Given the description of an element on the screen output the (x, y) to click on. 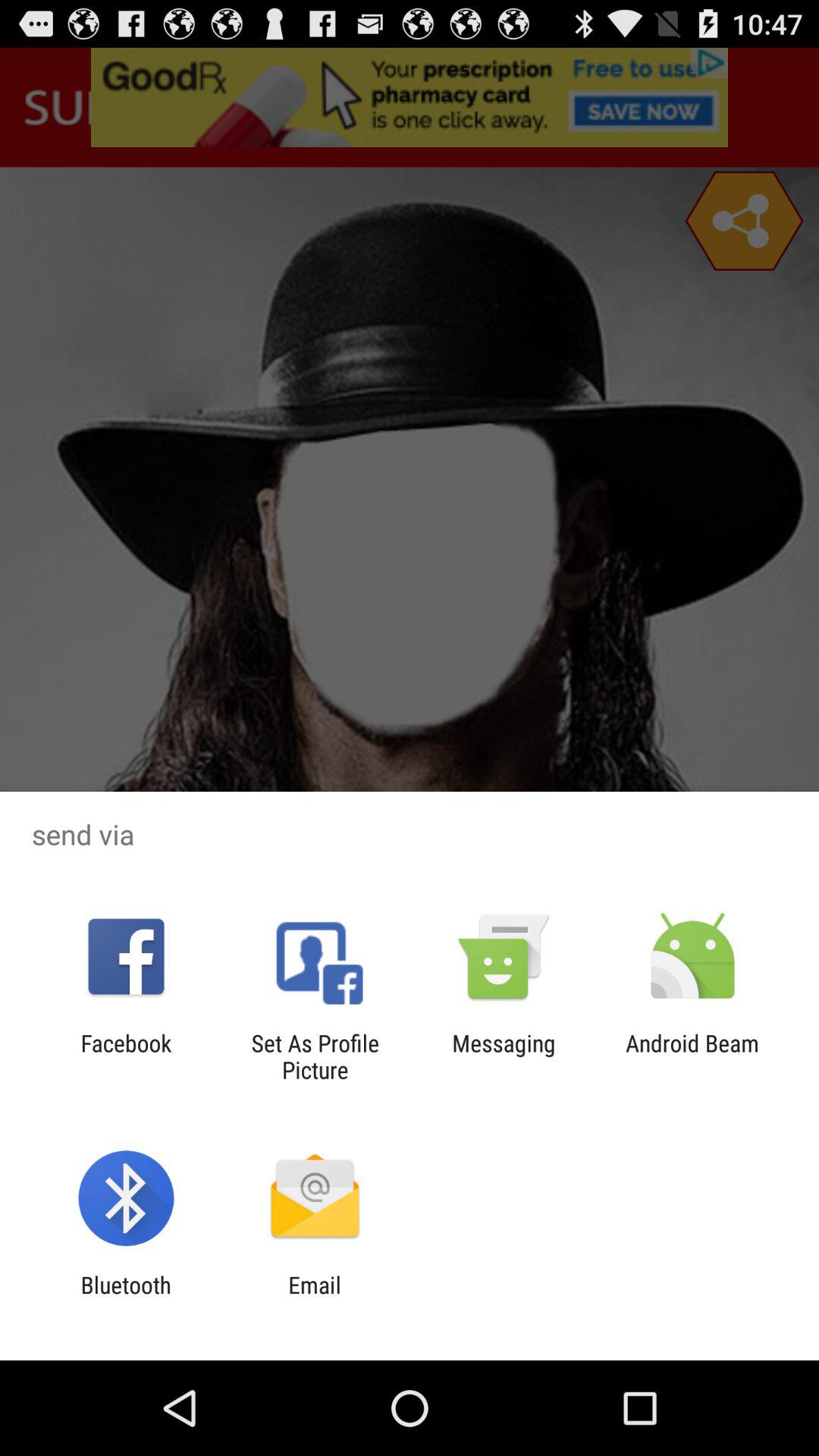
open the item next to the set as profile app (503, 1056)
